Given the description of an element on the screen output the (x, y) to click on. 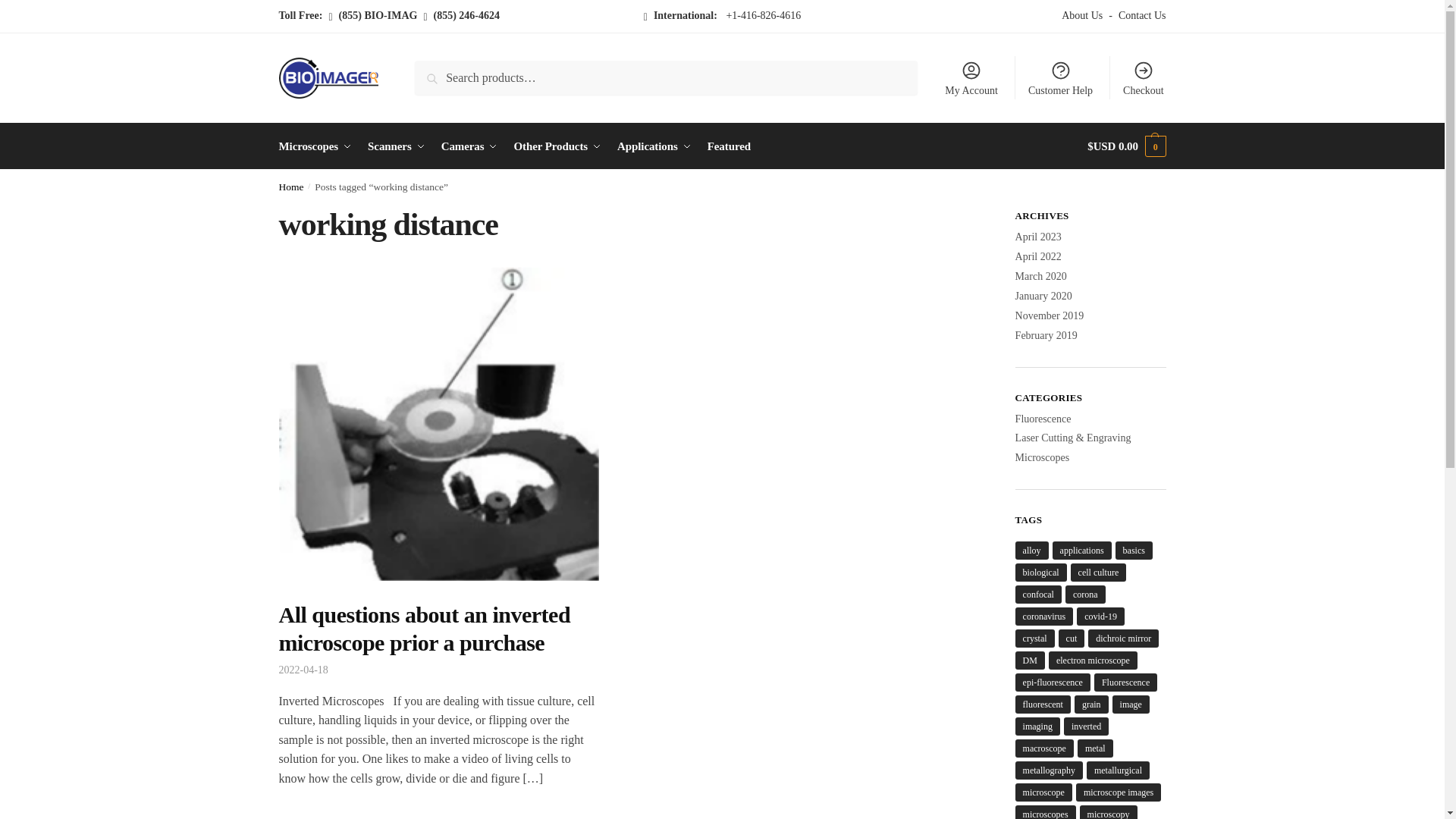
Checkout (1143, 77)
Search (435, 70)
About Us (1084, 16)
Customer Help (1060, 77)
Contact Us (1139, 16)
My Account (971, 77)
Microscopes (318, 145)
View your shopping cart (1126, 145)
